Given the description of an element on the screen output the (x, y) to click on. 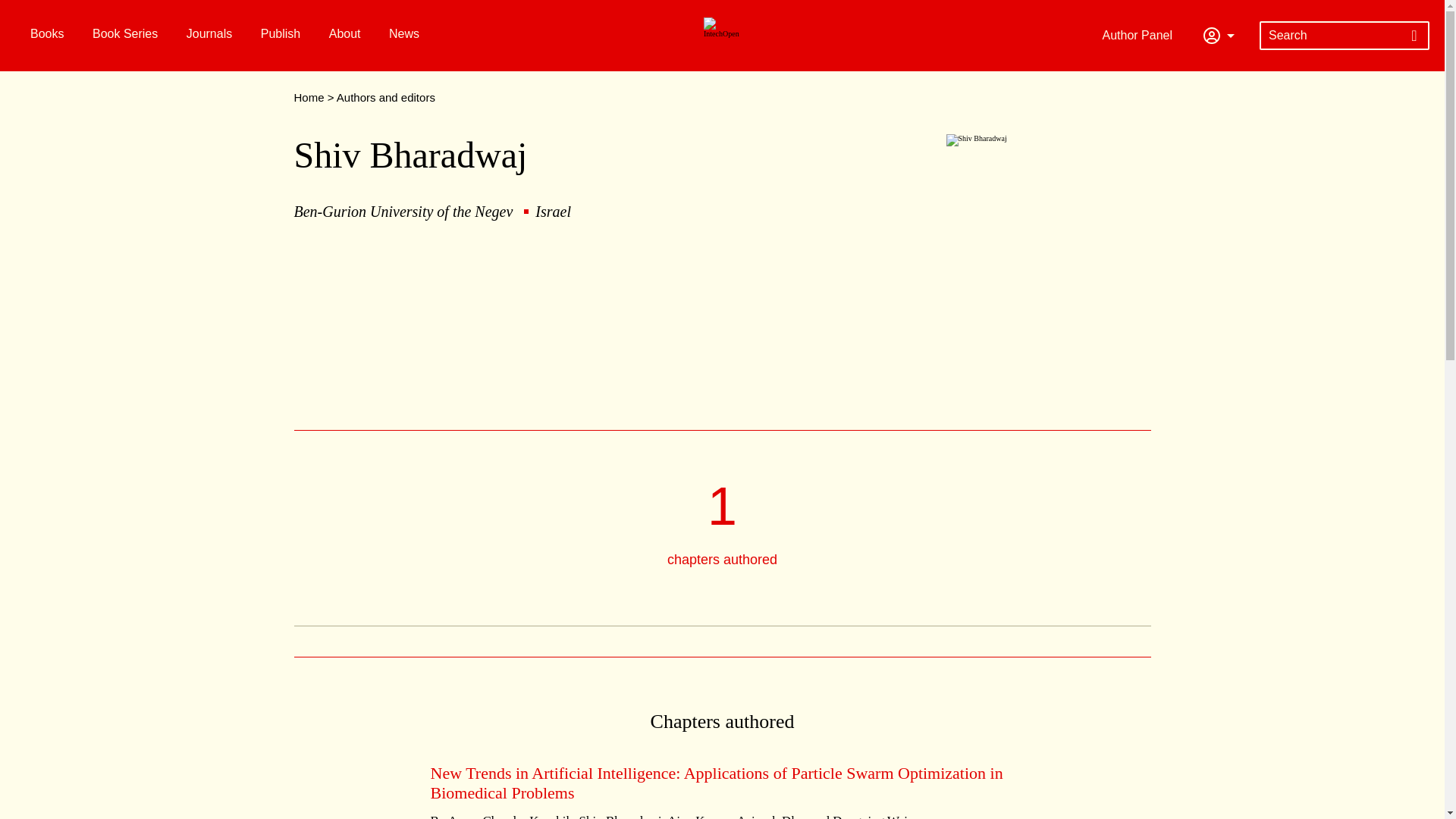
Publish (278, 33)
Authors and editors (385, 97)
Home (309, 97)
Book Series (122, 33)
Journals (207, 33)
Submit (1414, 35)
Author Panel (1140, 35)
